Given the description of an element on the screen output the (x, y) to click on. 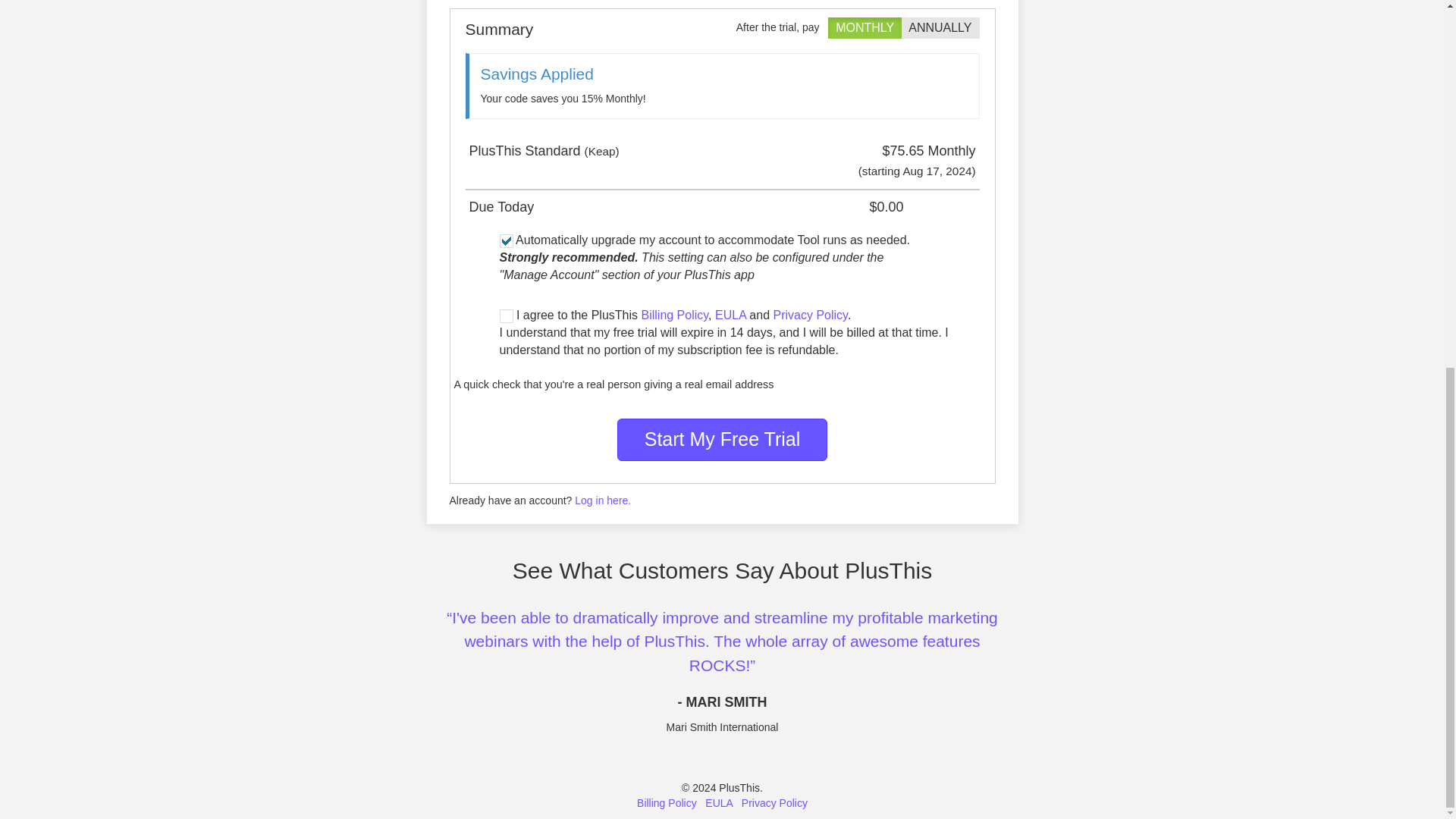
Start My Free Trial (722, 439)
Billing Policy (667, 802)
Billing Policy (673, 314)
Log in here. (602, 500)
Privacy Policy (774, 802)
1 (840, 26)
EULA (729, 314)
2 (913, 26)
EULA (718, 802)
Start My Free Trial (722, 439)
Privacy Policy (810, 314)
